Given the description of an element on the screen output the (x, y) to click on. 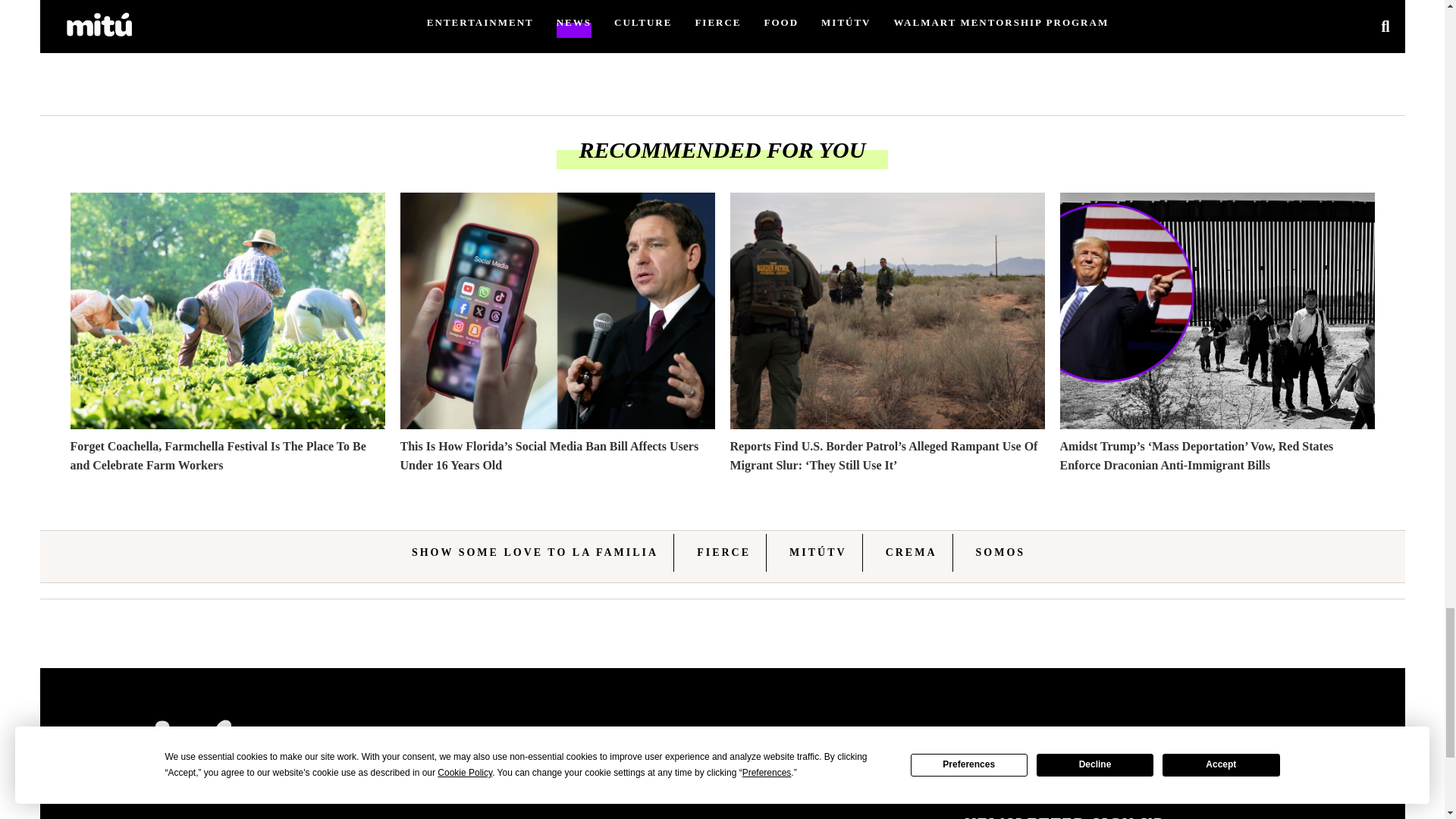
Share on Facebook (575, 26)
Share via Email (600, 26)
